Given the description of an element on the screen output the (x, y) to click on. 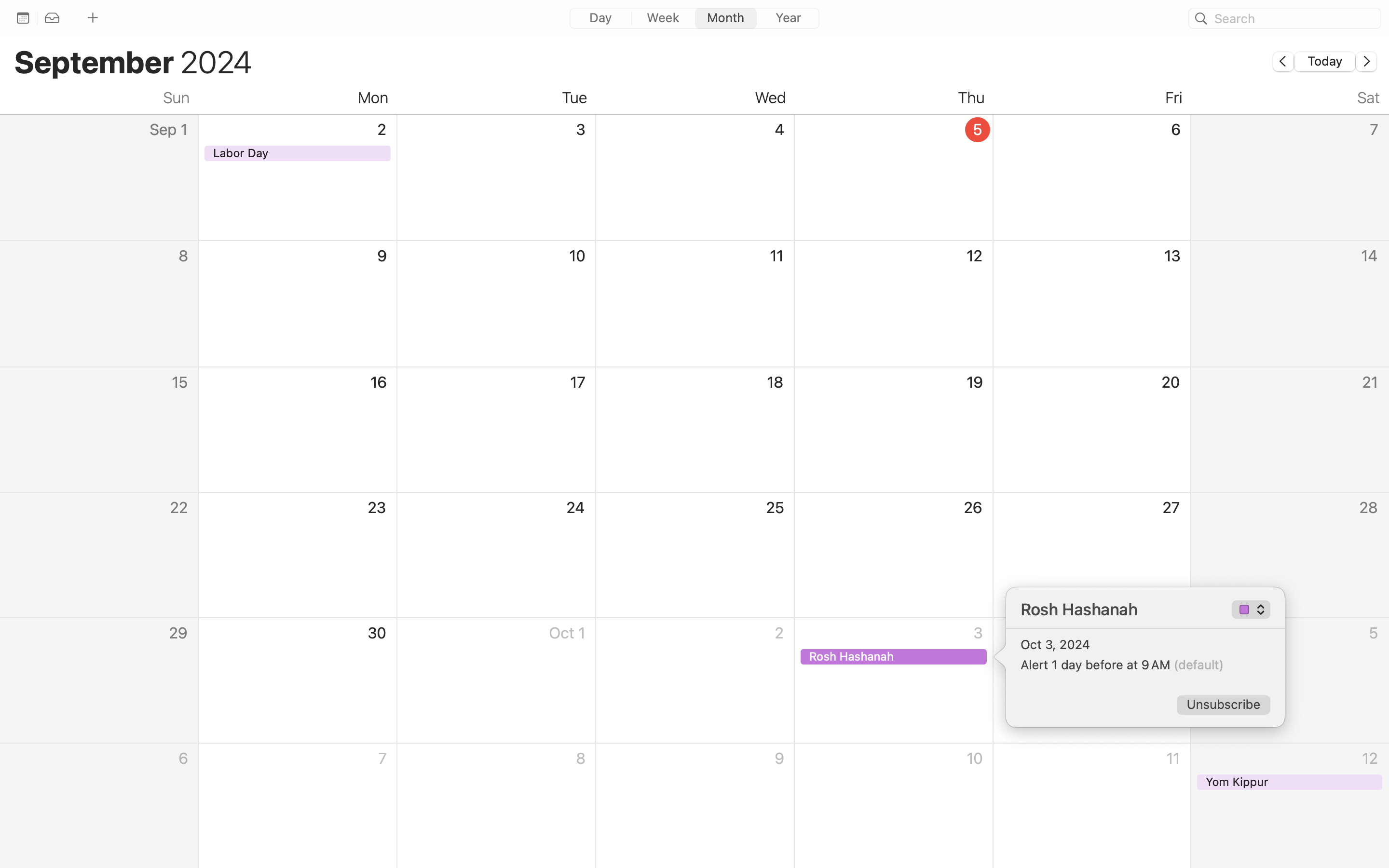
US Holidays Element type: AXPopUpButton (1251, 609)
<AXUIElement 0x14575cfc0> {pid=1173} Element type: AXRadioGroup (693, 18)
Rosh Hashanah Element type: AXStaticText (1123, 609)
